Given the description of an element on the screen output the (x, y) to click on. 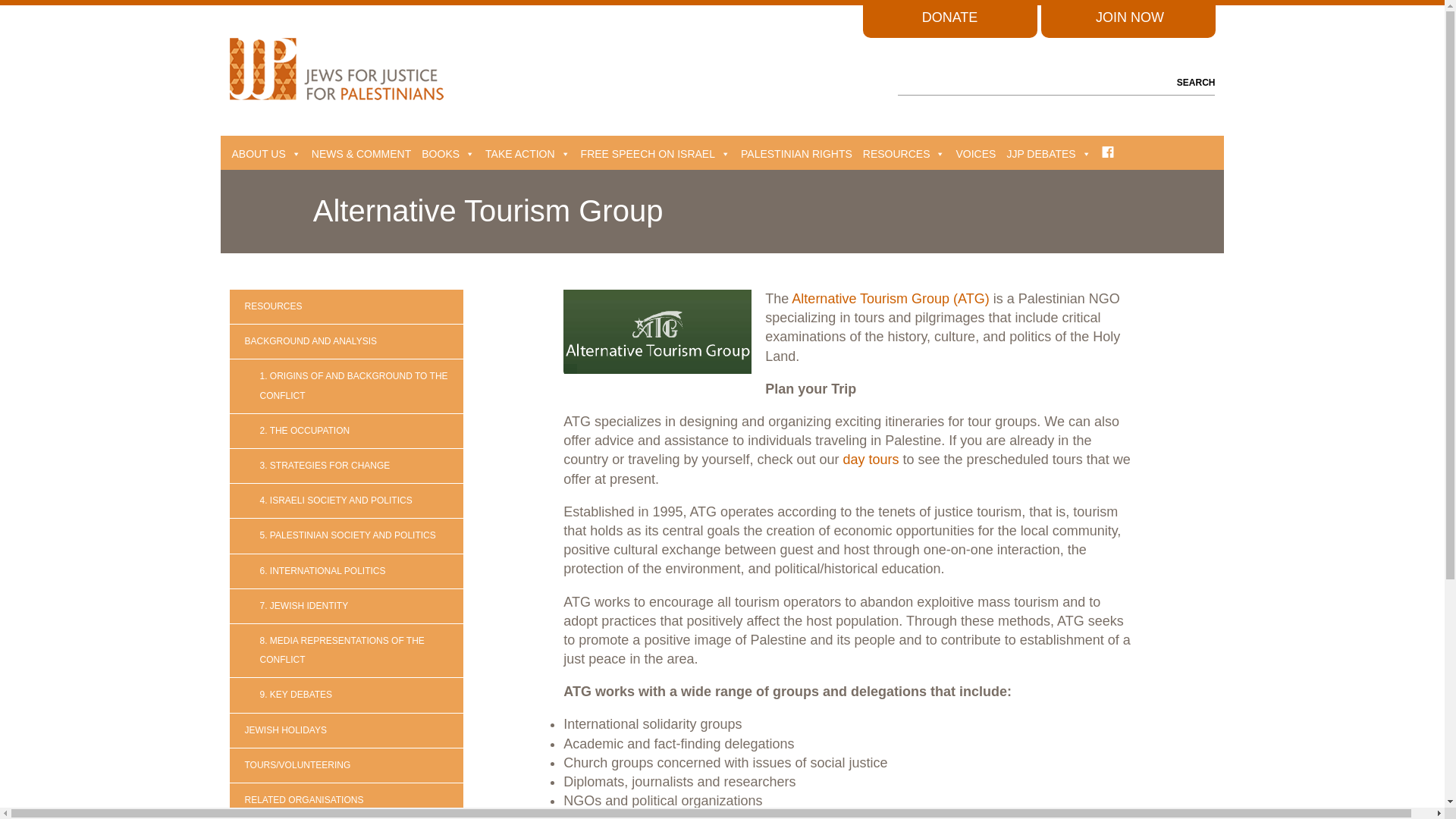
DONATE (949, 17)
atg (657, 331)
JOIN NOW (1129, 17)
